Given the description of an element on the screen output the (x, y) to click on. 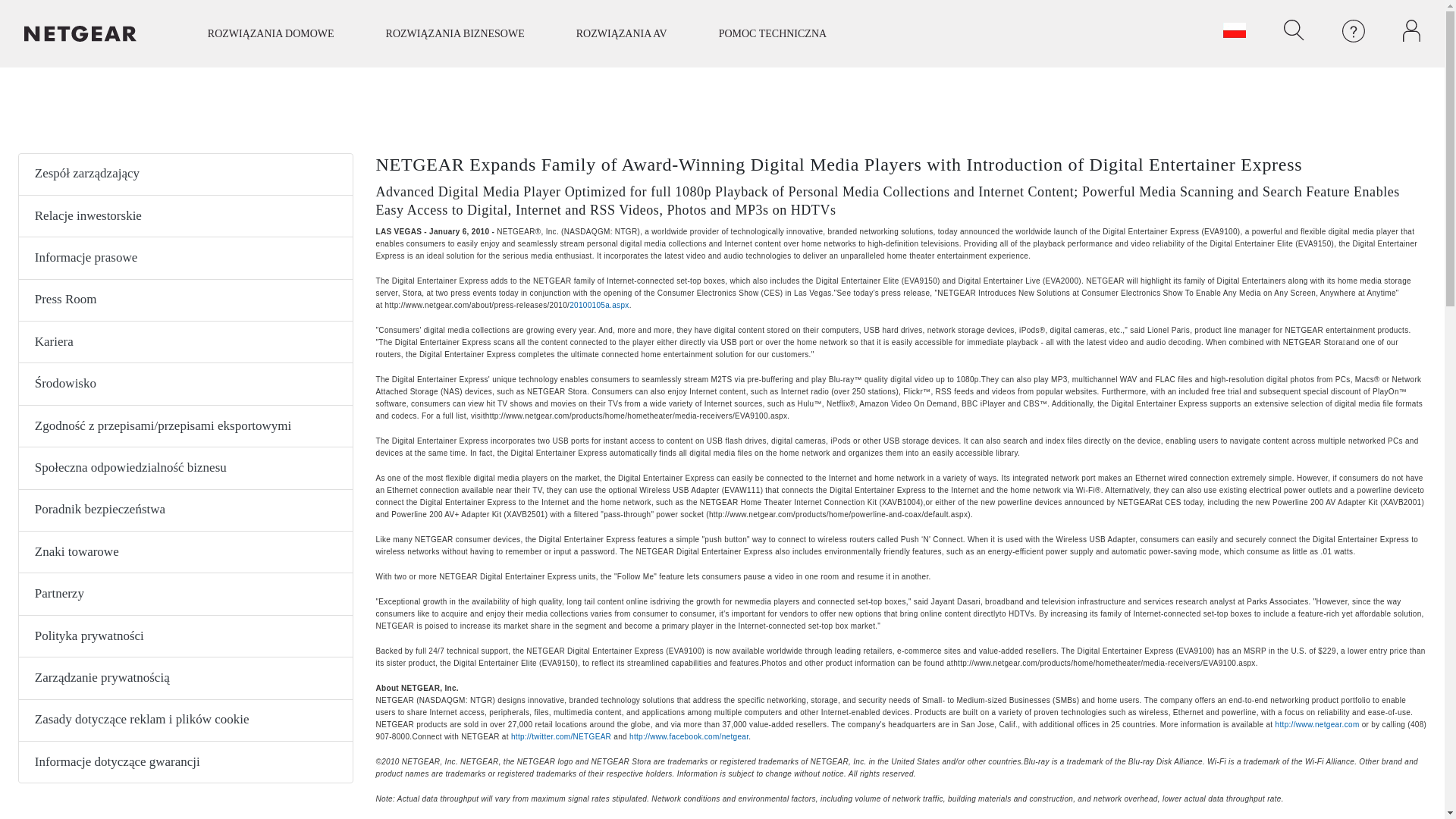
EVA9100 (1104, 663)
Powerline and Coax (838, 514)
EVA9100 (635, 415)
